Given the description of an element on the screen output the (x, y) to click on. 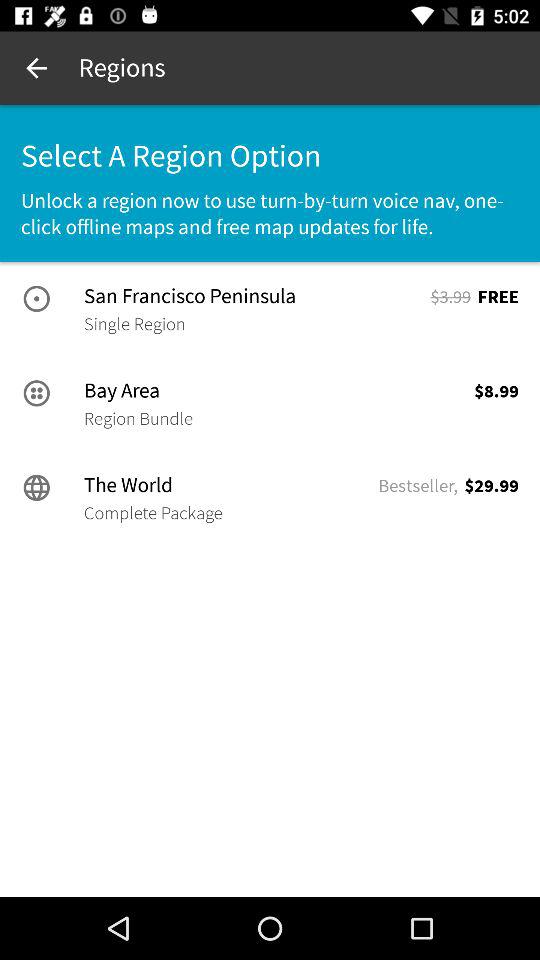
launch item above the region bundle (273, 390)
